Given the description of an element on the screen output the (x, y) to click on. 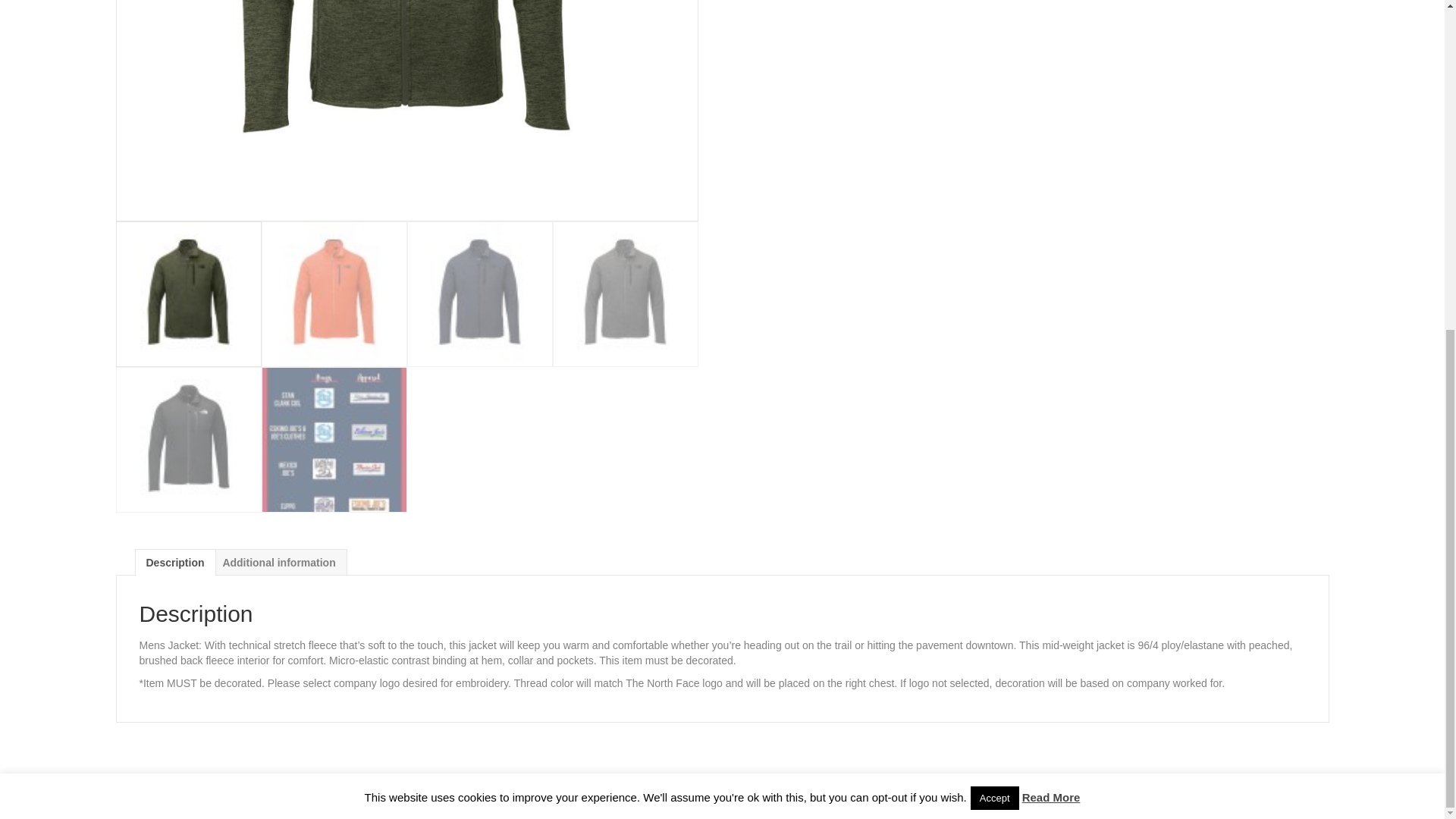
Eskimo Joe's (141, 796)
Accept (995, 250)
Read More (1051, 250)
Mexico Joe's (202, 796)
Additional information (278, 562)
Joe's Clothes (262, 796)
Description (174, 562)
